Given the description of an element on the screen output the (x, y) to click on. 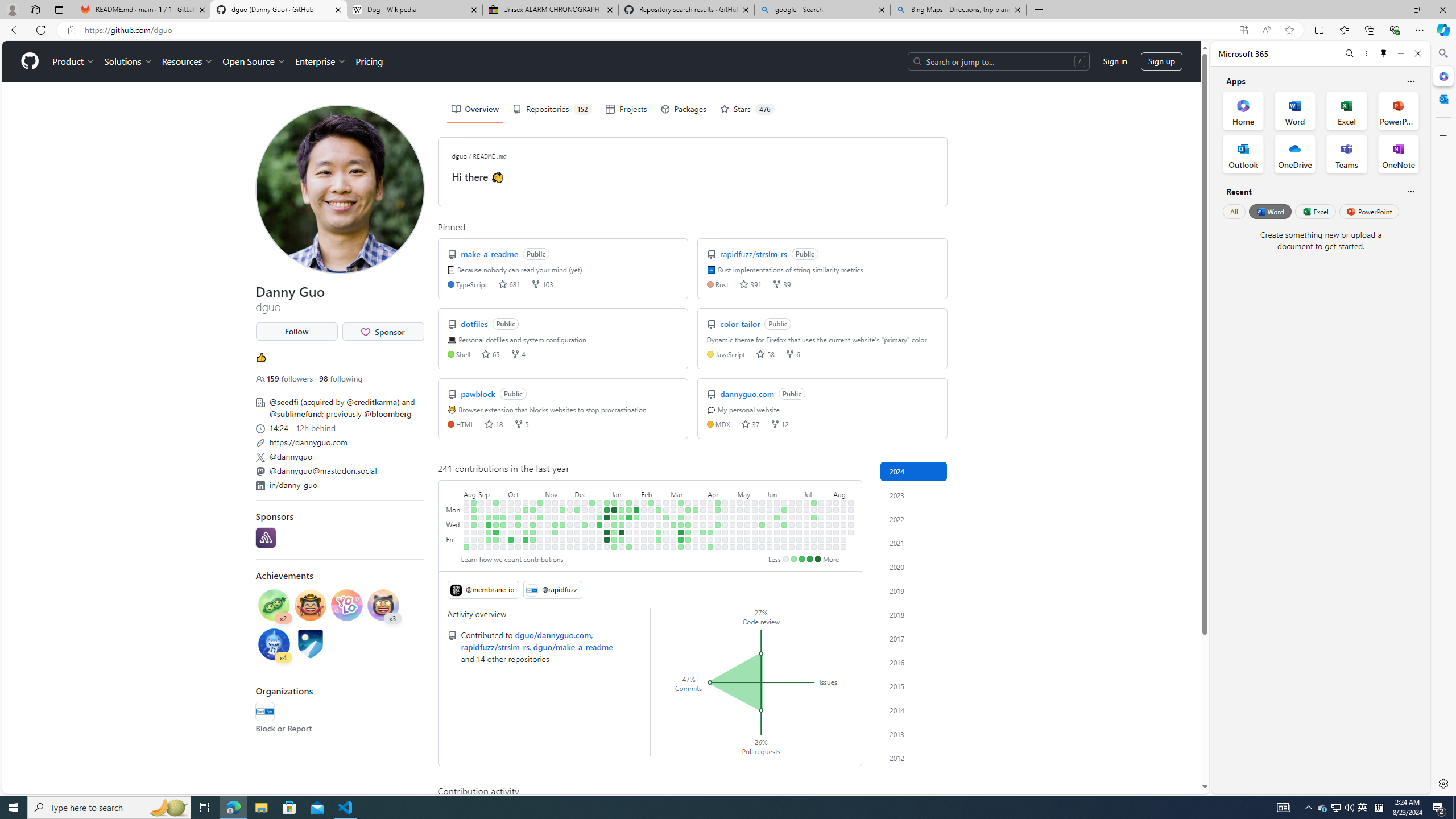
@sublimefund (295, 413)
1 contribution on July 16th. (813, 517)
Contribution activity in 2018 (913, 614)
1 contribution on April 14th. (717, 502)
April (721, 492)
Achievement: Pull Shark (273, 644)
@rapidfuzz (263, 711)
Tuesday (454, 517)
1 contribution on January 7th. (614, 502)
159 followers  (284, 378)
No contributions on November 14th. (555, 517)
No contributions on May 22nd. (754, 524)
1 contribution on November 22nd. (562, 524)
No contributions on August 12th. (843, 509)
